Given the description of an element on the screen output the (x, y) to click on. 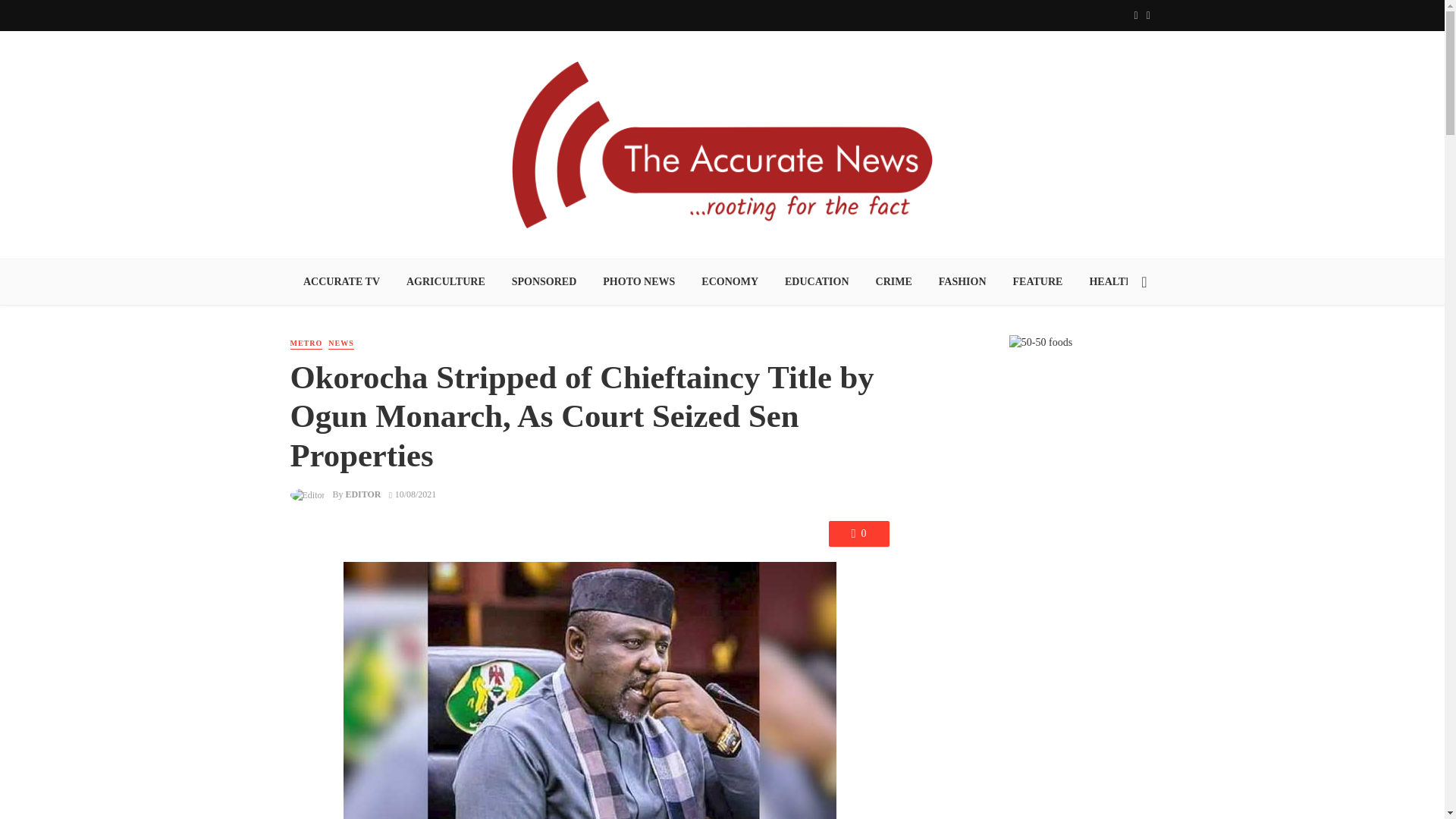
FASHION (961, 281)
EDITOR (362, 493)
ACCURATE TV (341, 281)
AGRICULTURE (445, 281)
SPONSORED (543, 281)
PHOTO NEWS (638, 281)
CRIME (892, 281)
0 Comments (858, 533)
FEATURE (1036, 281)
ECONOMY (729, 281)
0 (858, 533)
METRO (305, 343)
August 10, 2021 at 6:34 am (412, 493)
EDUCATION (817, 281)
NEWS (341, 343)
